Given the description of an element on the screen output the (x, y) to click on. 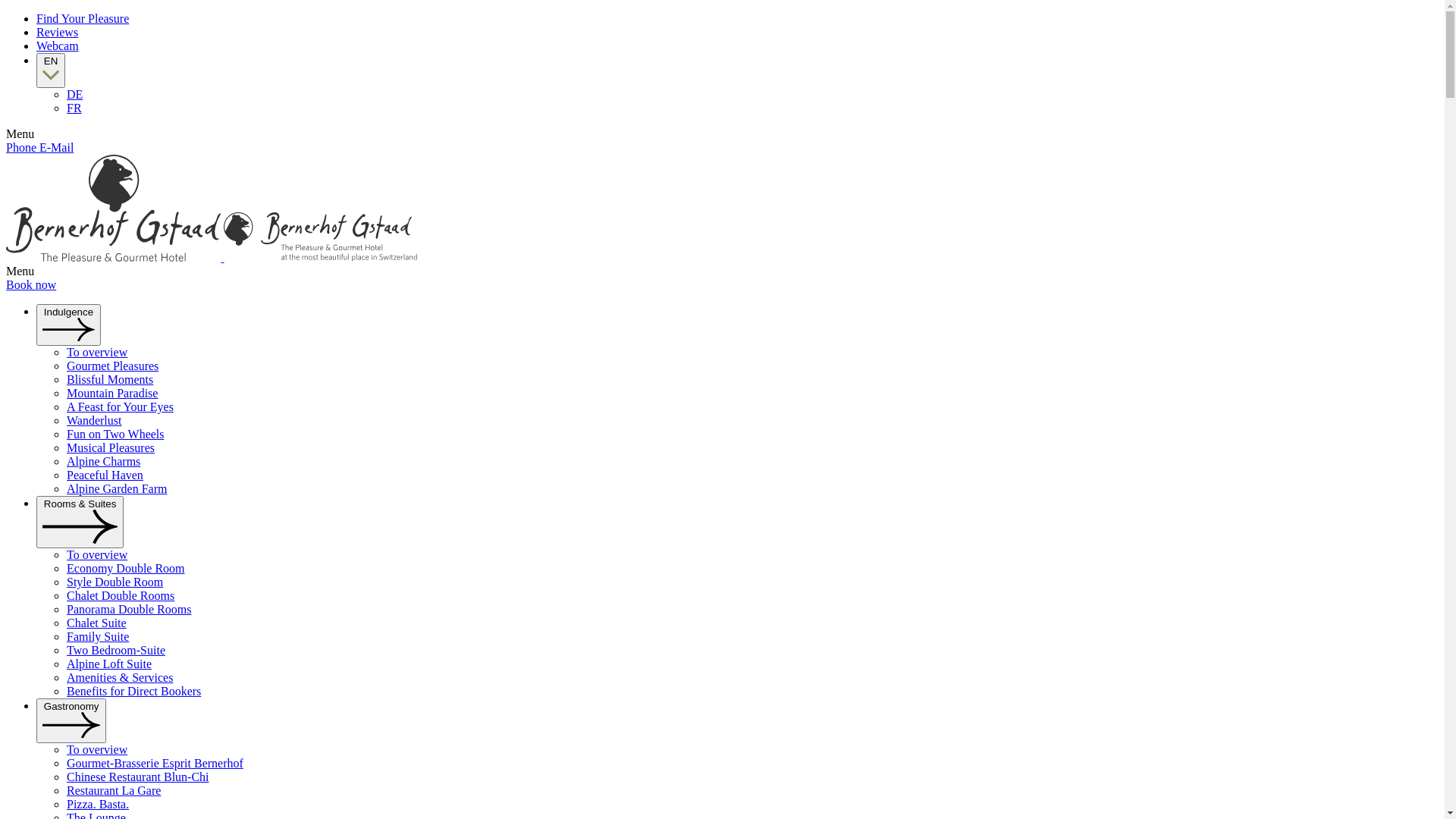
Family Suite Element type: text (97, 636)
Economy Double Room Element type: text (125, 567)
Chinese Restaurant Blun-Chi Element type: text (137, 776)
Fun on Two Wheels Element type: text (115, 433)
Chalet Suite Element type: text (96, 622)
Phone Element type: text (22, 147)
To overview Element type: text (96, 554)
To overview Element type: text (96, 351)
Restaurant La Gare Element type: text (113, 790)
Alpine Loft Suite Element type: text (108, 663)
Webcam Element type: text (57, 45)
Benefits for Direct Bookers Element type: text (133, 690)
Mountain Paradise Element type: text (111, 392)
Blissful Moments Element type: text (109, 379)
A Feast for Your Eyes Element type: text (119, 406)
Musical Pleasures Element type: text (110, 447)
Reviews Element type: text (57, 31)
E-Mail Element type: text (56, 147)
Peaceful Haven Element type: text (104, 474)
Indulgence Element type: text (68, 324)
Gourmet-Brasserie Esprit Bernerhof Element type: text (154, 762)
Alpine Garden Farm Element type: text (116, 488)
Rooms & Suites Element type: text (79, 521)
Style Double Room Element type: text (114, 581)
DE Element type: text (74, 93)
Two Bedroom-Suite Element type: text (115, 649)
Gourmet Pleasures Element type: text (112, 365)
Amenities & Services Element type: text (119, 677)
Find Your Pleasure Element type: text (82, 18)
Wanderlust Element type: text (93, 420)
Chalet Double Rooms Element type: text (120, 595)
FR Element type: text (73, 107)
Gastronomy Element type: text (71, 720)
Book now Element type: text (31, 284)
Panorama Double Rooms Element type: text (128, 608)
To overview Element type: text (96, 749)
Pizza. Basta. Element type: text (97, 803)
EN Element type: text (50, 70)
Alpine Charms Element type: text (103, 461)
